Given the description of an element on the screen output the (x, y) to click on. 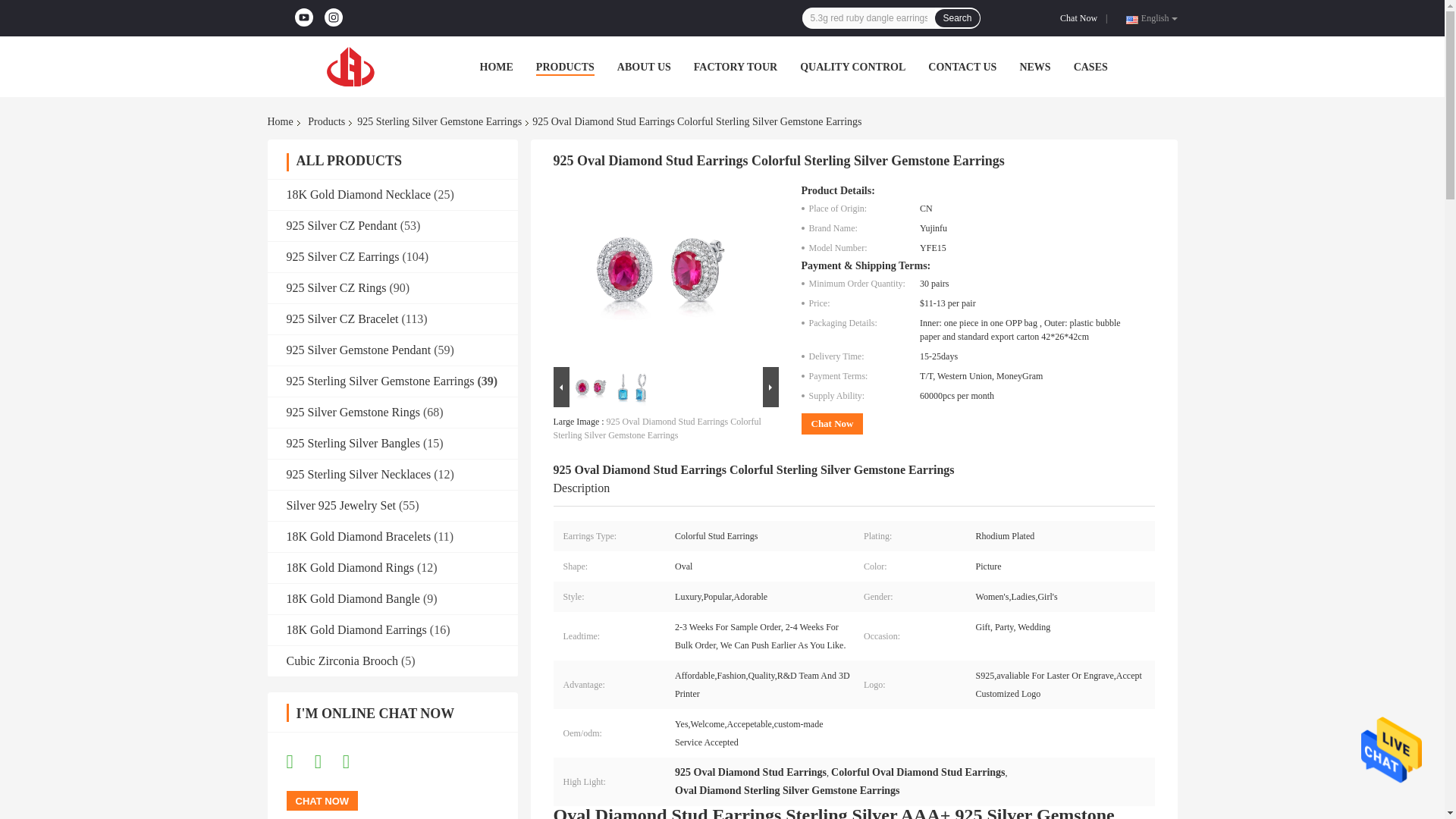
Guangzhou Yujinfu Jewelry Factory YouTube (303, 17)
PRODUCTS (564, 66)
925 Silver CZ Bracelet (342, 318)
18K Gold Diamond Necklace (358, 194)
ABOUT US (644, 66)
Guangzhou Yujinfu Jewelry Factory Instagram (333, 17)
Search (956, 18)
FACTORY TOUR (735, 66)
Guangzhou Yujinfu Jewelry Factory (349, 66)
Chat Now (1081, 18)
